Given the description of an element on the screen output the (x, y) to click on. 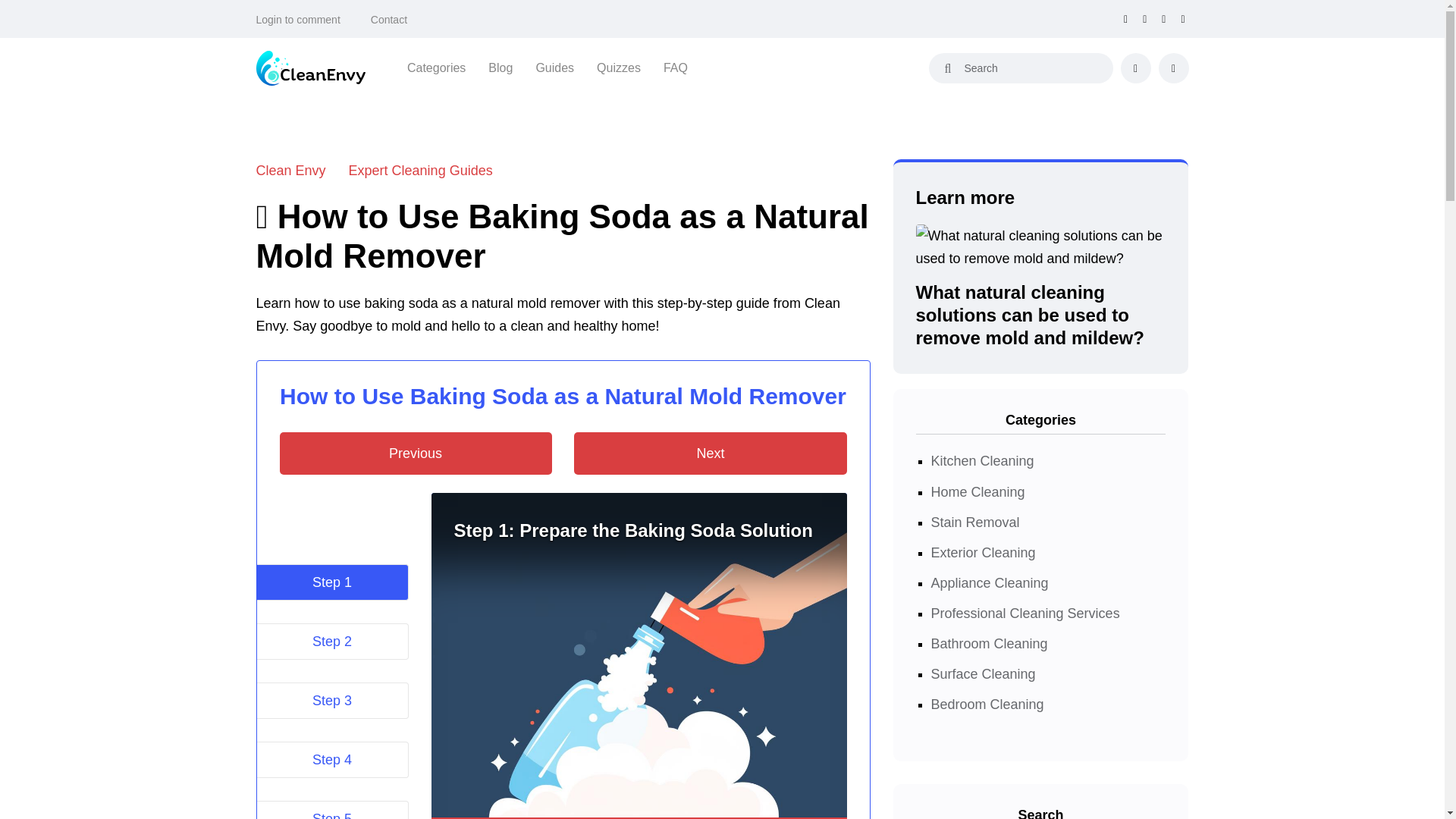
Contact (389, 19)
Categories (436, 67)
Login to comment (298, 19)
